Given the description of an element on the screen output the (x, y) to click on. 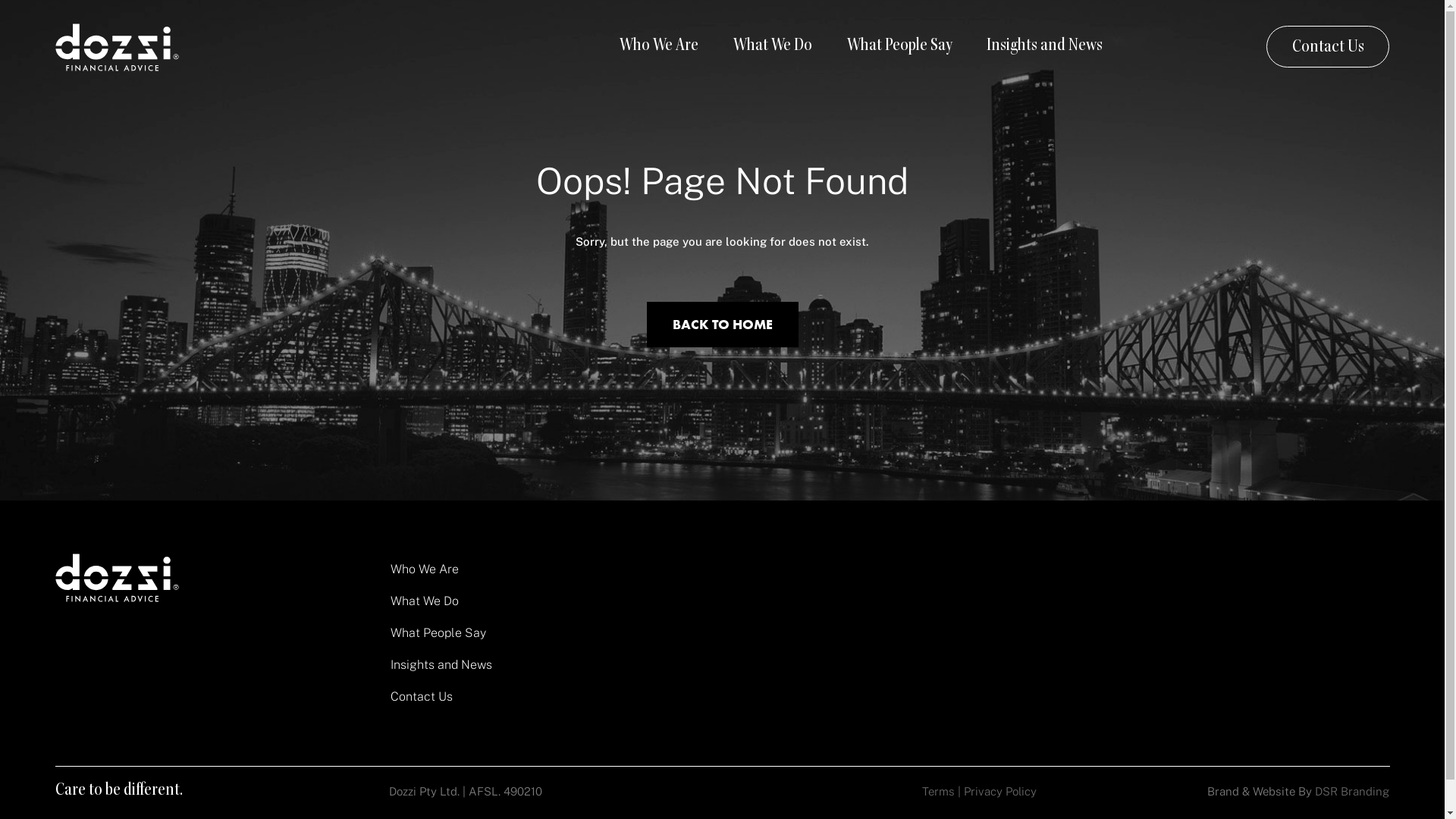
Insights and News Element type: text (655, 664)
Insights and News Element type: text (1044, 47)
Terms Element type: text (938, 790)
Privacy Policy Element type: text (999, 790)
BACK TO HOME Element type: text (721, 324)
Who We Are Element type: text (655, 569)
Contact Us Element type: text (1327, 46)
What People Say Element type: text (899, 47)
DSR Branding Element type: text (1351, 790)
Contact Us Element type: text (655, 696)
Who We Are Element type: text (658, 47)
What We Do Element type: text (655, 601)
What We Do Element type: text (772, 47)
What People Say Element type: text (655, 633)
